Given the description of an element on the screen output the (x, y) to click on. 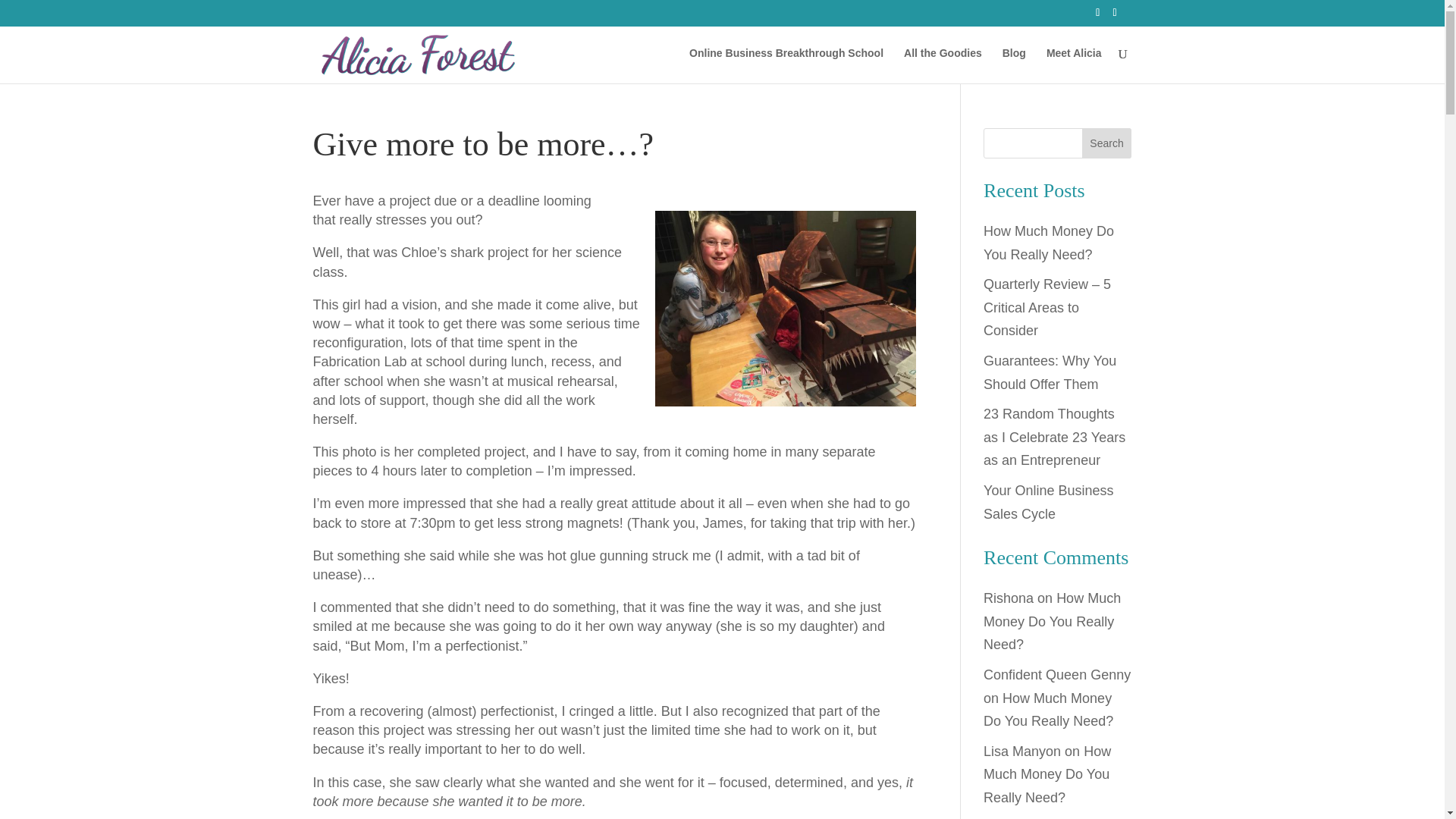
Search (1106, 142)
Guarantees: Why You Should Offer Them (1050, 372)
How Much Money Do You Really Need? (1048, 709)
Search (1106, 142)
Meet Alicia (1074, 65)
Confident Queen Genny (1057, 674)
Your Online Business Sales Cycle (1048, 502)
Online Business Breakthrough School (785, 65)
How Much Money Do You Really Need? (1047, 774)
